Given the description of an element on the screen output the (x, y) to click on. 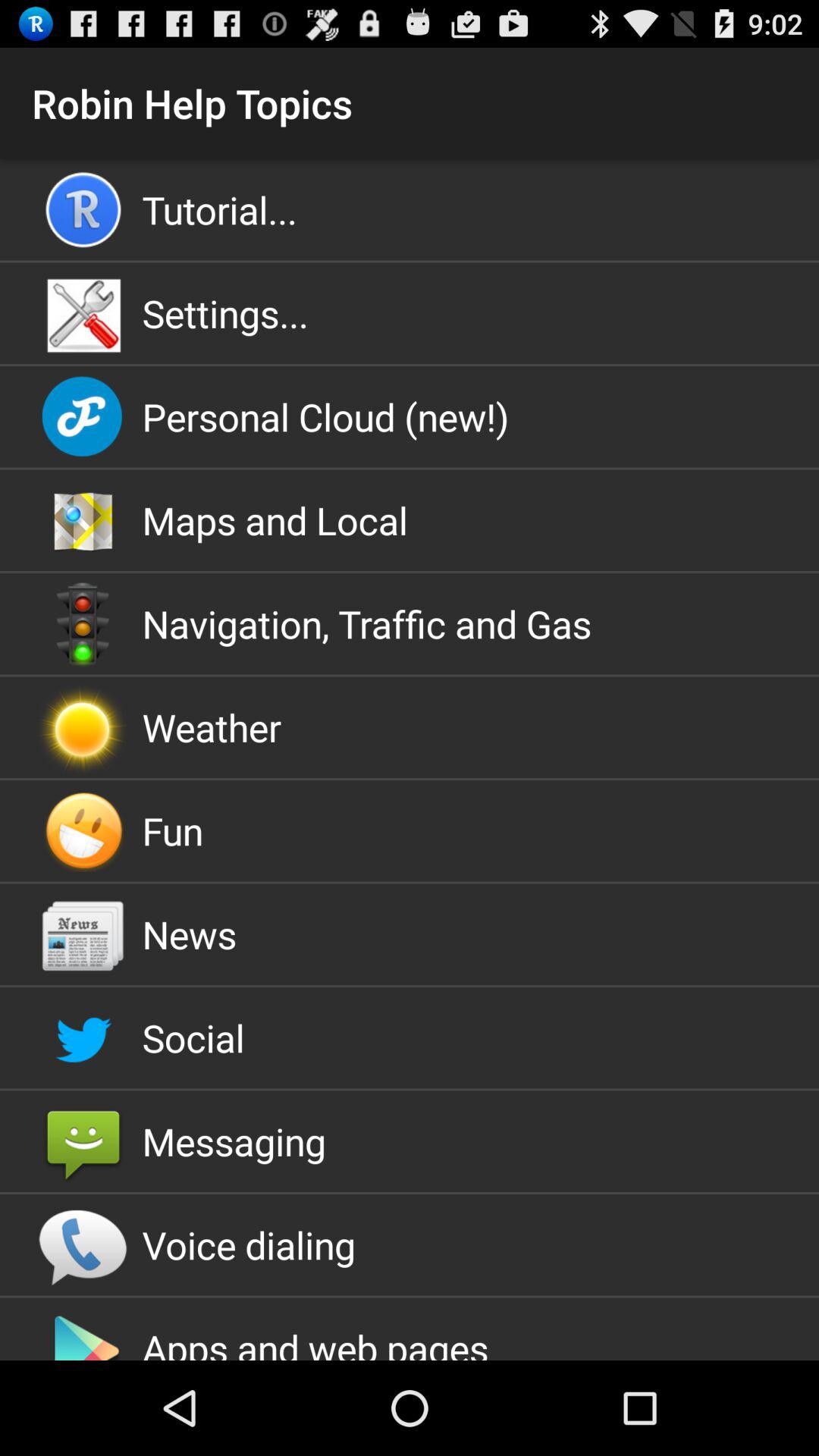
turn off app below navigation traffic and app (409, 727)
